Given the description of an element on the screen output the (x, y) to click on. 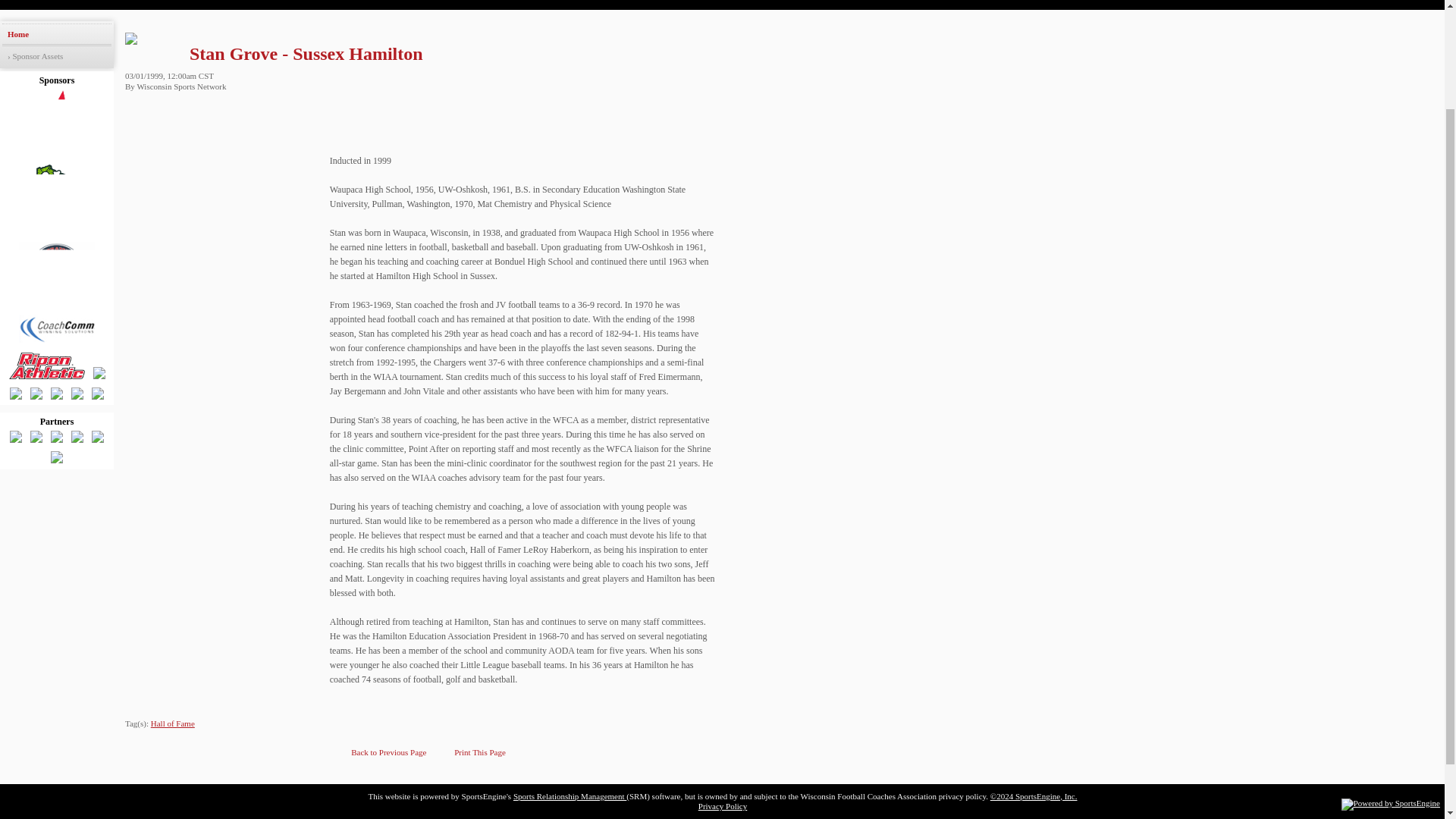
Print This Page (472, 752)
click to go to 'Sponsor Assets' (57, 55)
Hall of Fame (173, 723)
Privacy Policy (722, 805)
Sponsor Assets (57, 55)
Back to Previous Page (381, 752)
Home (57, 34)
Sports Relationship Management (569, 795)
click to go to 'Home' (57, 34)
